Given the description of an element on the screen output the (x, y) to click on. 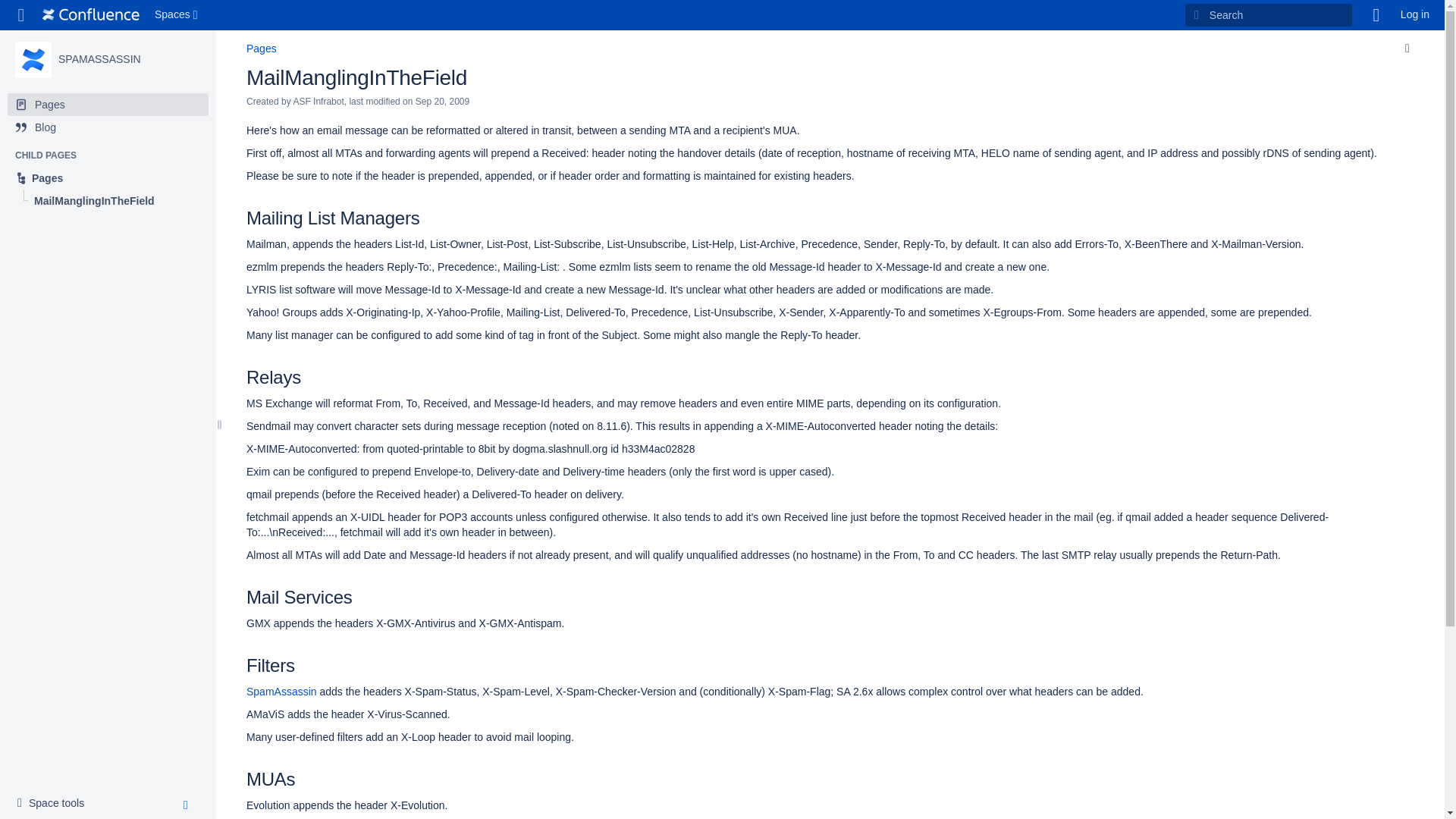
Pages (107, 178)
Spaces (177, 15)
SPAMASSASSIN (99, 59)
ASF Infrabot (317, 101)
Help (1376, 15)
SPAMASSASSIN (32, 59)
Pages (107, 178)
Pages (261, 48)
SPAMASSASSIN (99, 59)
Blog (107, 127)
